Given the description of an element on the screen output the (x, y) to click on. 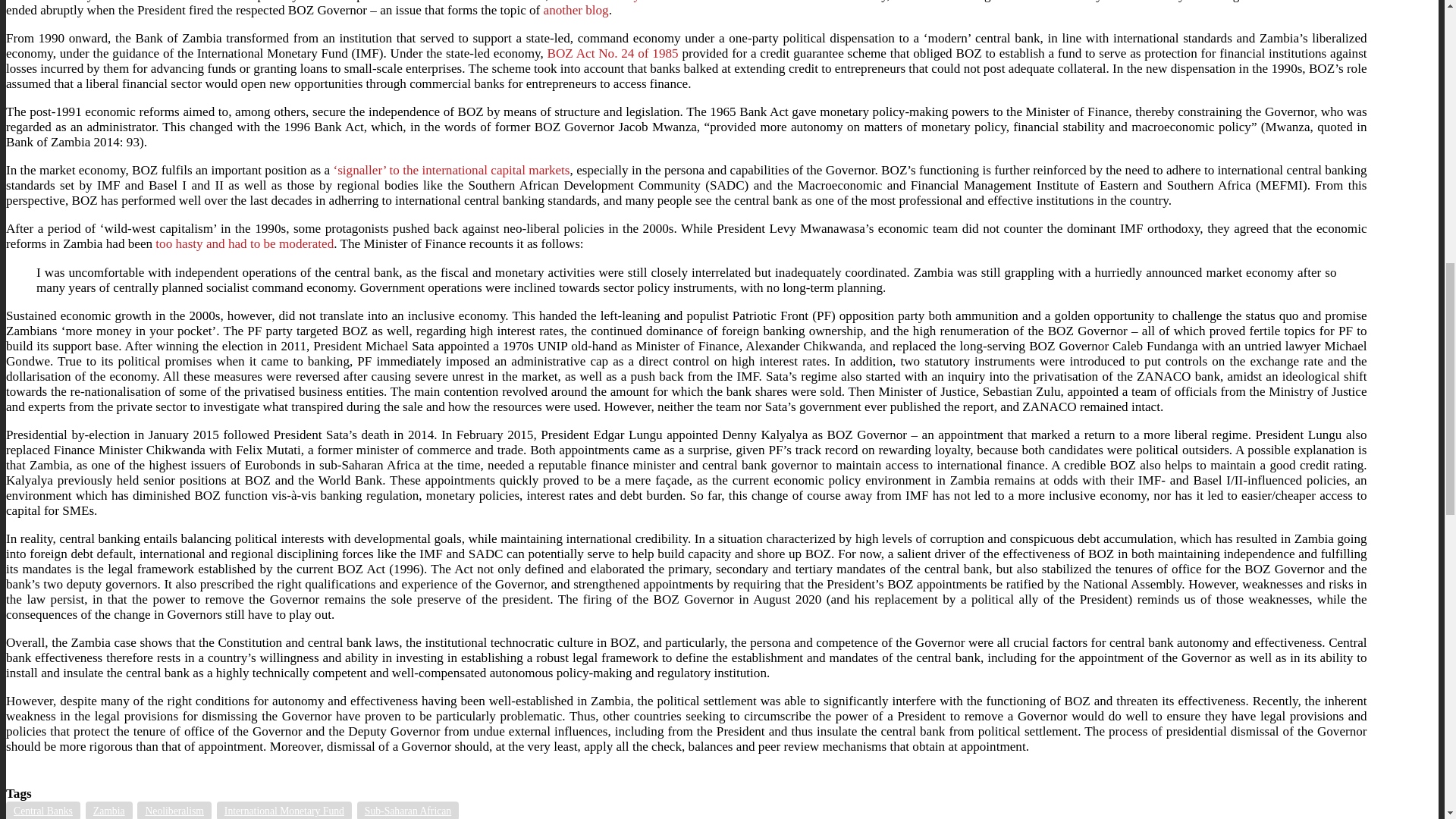
Neoliberalism (173, 810)
Central Banks (42, 810)
another blog (575, 10)
BOZ Act No. 24 of 1985 (612, 52)
Ministry of Finance (646, 1)
too hasty and had to be moderated (244, 243)
Zambia (108, 810)
